Given the description of an element on the screen output the (x, y) to click on. 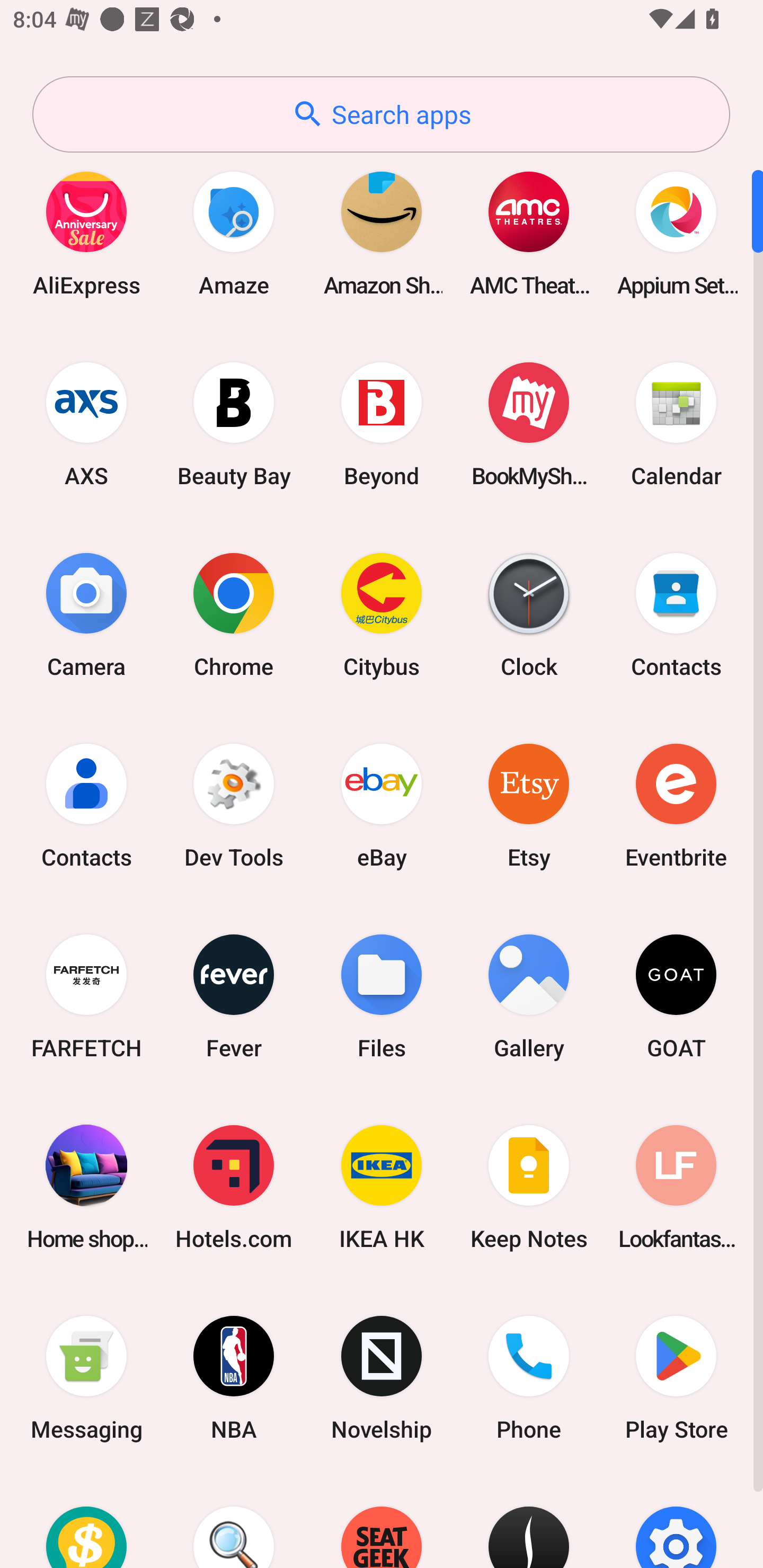
  Search apps (381, 114)
AliExpress (86, 233)
Amaze (233, 233)
Amazon Shopping (381, 233)
AMC Theatres (528, 233)
Appium Settings (676, 233)
AXS (86, 424)
Beauty Bay (233, 424)
Beyond (381, 424)
BookMyShow (528, 424)
Calendar (676, 424)
Camera (86, 614)
Chrome (233, 614)
Citybus (381, 614)
Clock (528, 614)
Contacts (676, 614)
Contacts (86, 805)
Dev Tools (233, 805)
eBay (381, 805)
Etsy (528, 805)
Eventbrite (676, 805)
FARFETCH (86, 996)
Fever (233, 996)
Files (381, 996)
Gallery (528, 996)
GOAT (676, 996)
Home shopping (86, 1186)
Hotels.com (233, 1186)
IKEA HK (381, 1186)
Keep Notes (528, 1186)
Lookfantastic (676, 1186)
Messaging (86, 1377)
NBA (233, 1377)
Novelship (381, 1377)
Phone (528, 1377)
Play Store (676, 1377)
